Given the description of an element on the screen output the (x, y) to click on. 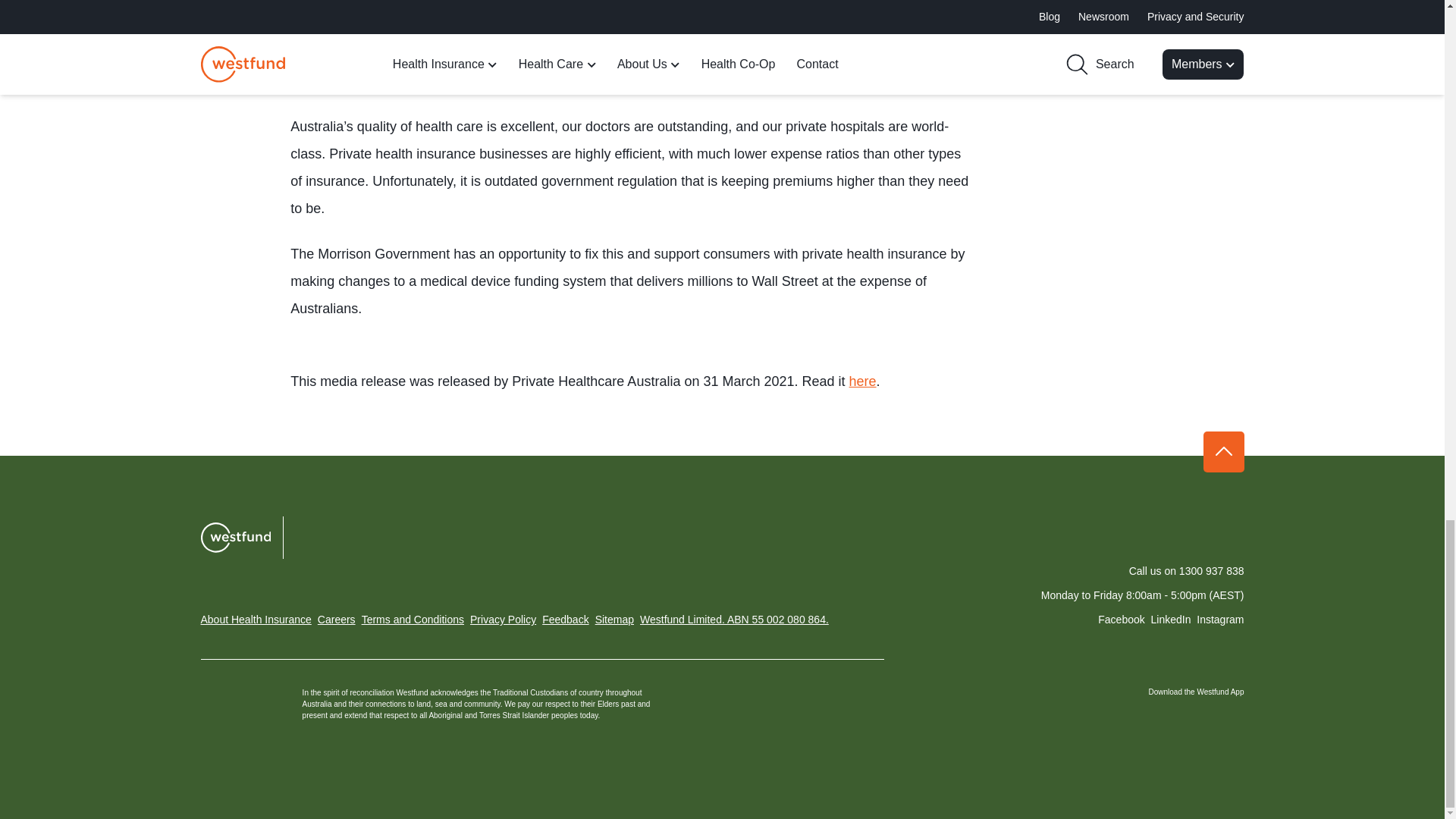
Careers (336, 619)
Sitemap (614, 619)
About Health Insurance (255, 619)
Privacy Policy (502, 619)
link to App Store App (1200, 715)
link to Google Play App (1231, 715)
Westfund Limited. ABN 55 002 080 864. (734, 619)
Feedback (564, 619)
Terms and Conditions (412, 619)
